Given the description of an element on the screen output the (x, y) to click on. 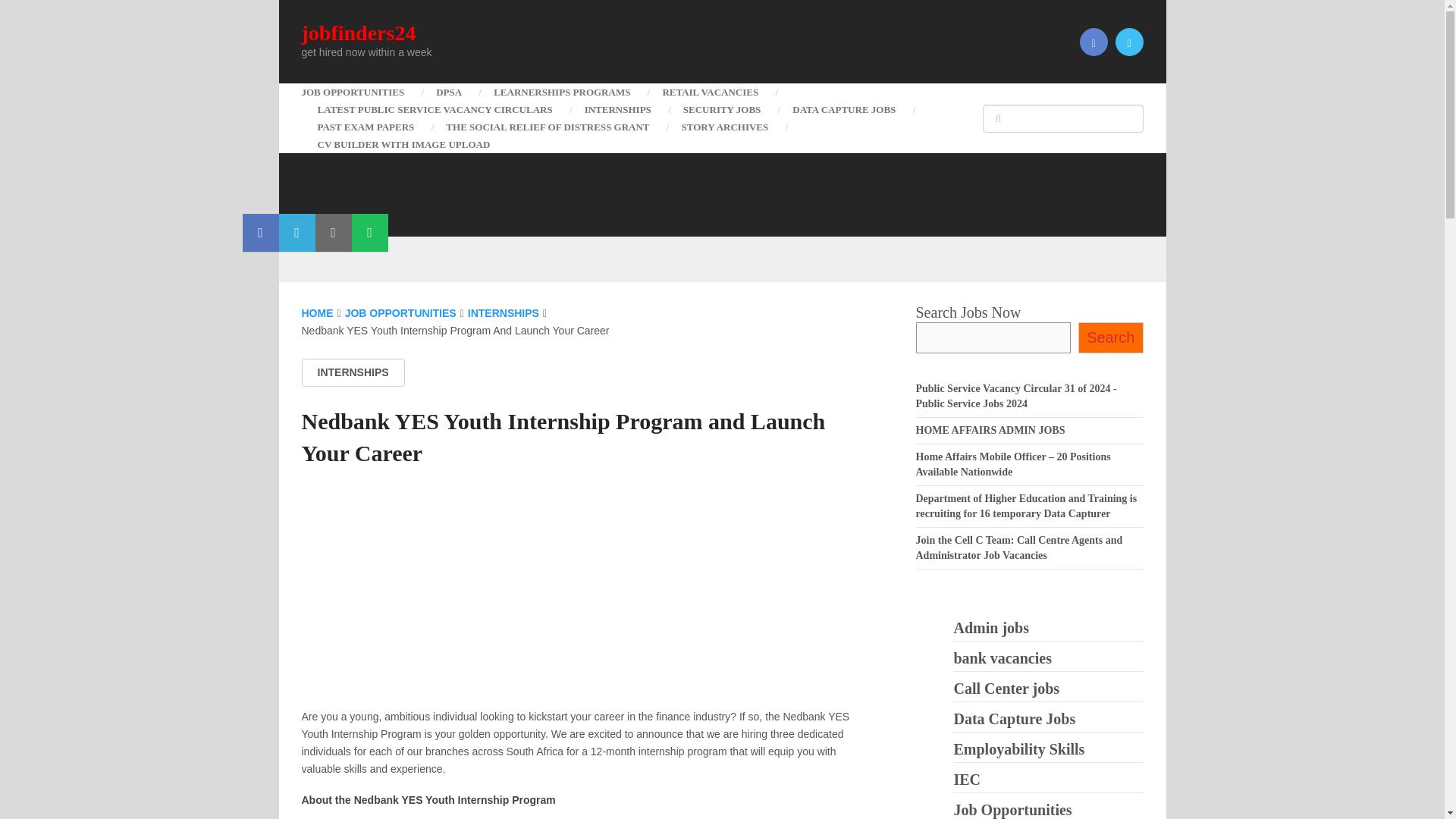
INTERNSHIPS (352, 372)
CV BUILDER WITH IMAGE UPLOAD (403, 144)
jobfinders24 (358, 33)
JOB OPPORTUNITIES (360, 91)
DPSA (448, 91)
INTERNSHIPS (617, 108)
HOME (317, 313)
INTERNSHIPS (502, 313)
View all posts in Internships (352, 372)
